Given the description of an element on the screen output the (x, y) to click on. 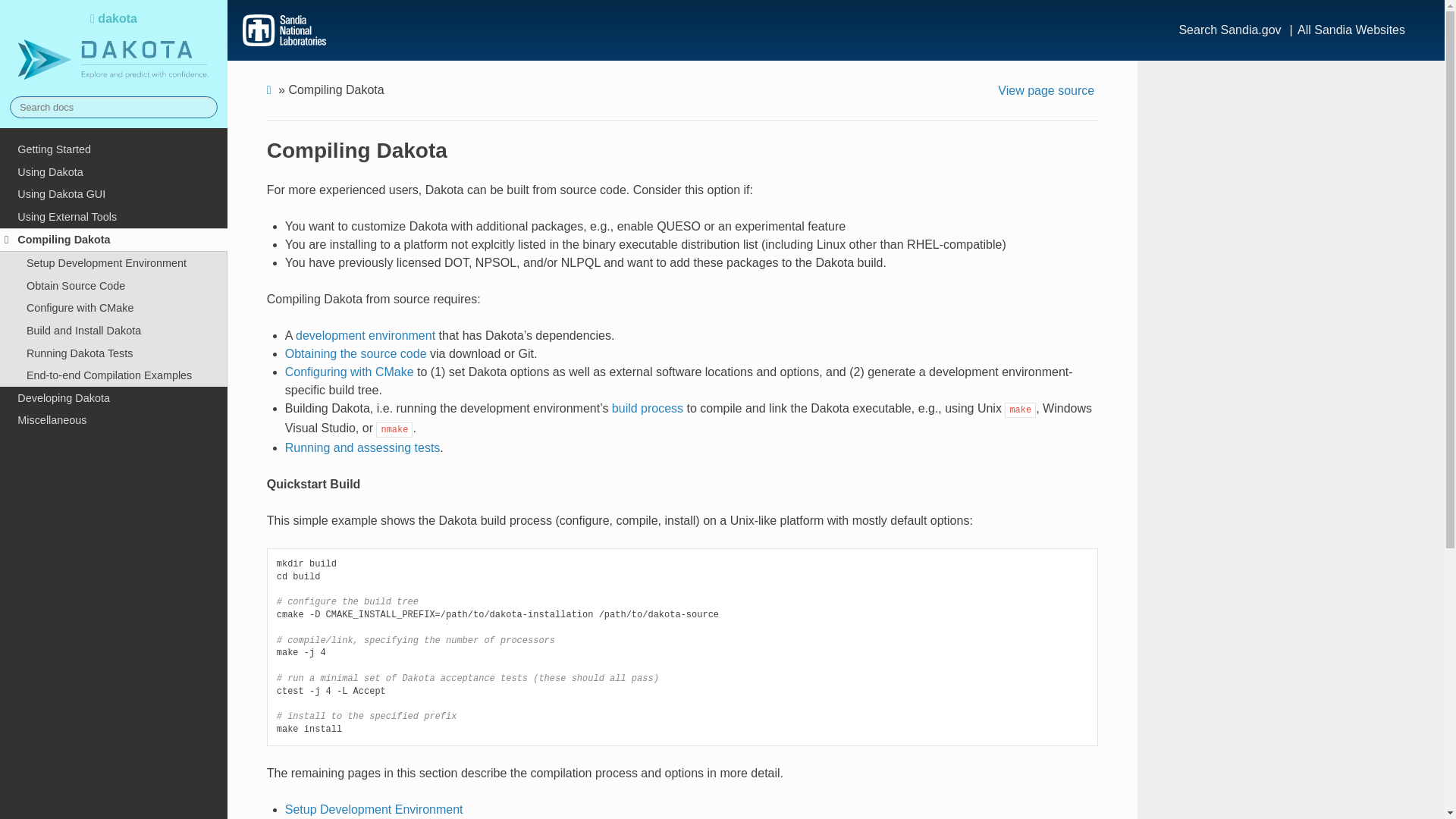
Running and assessing tests (363, 447)
Compiling Dakota (113, 240)
Configure with CMake (113, 308)
dakota (113, 47)
Using External Tools (113, 216)
Obtaining the source code (355, 353)
Setup Development Environment (374, 809)
Build and Install Dakota (113, 330)
All Sandia Websites (1351, 31)
End-to-end Compilation Examples (113, 374)
Search Sandia.gov (1229, 31)
Using Dakota GUI (113, 193)
Developing Dakota (113, 397)
Running Dakota Tests (113, 353)
development environment (365, 335)
